Given the description of an element on the screen output the (x, y) to click on. 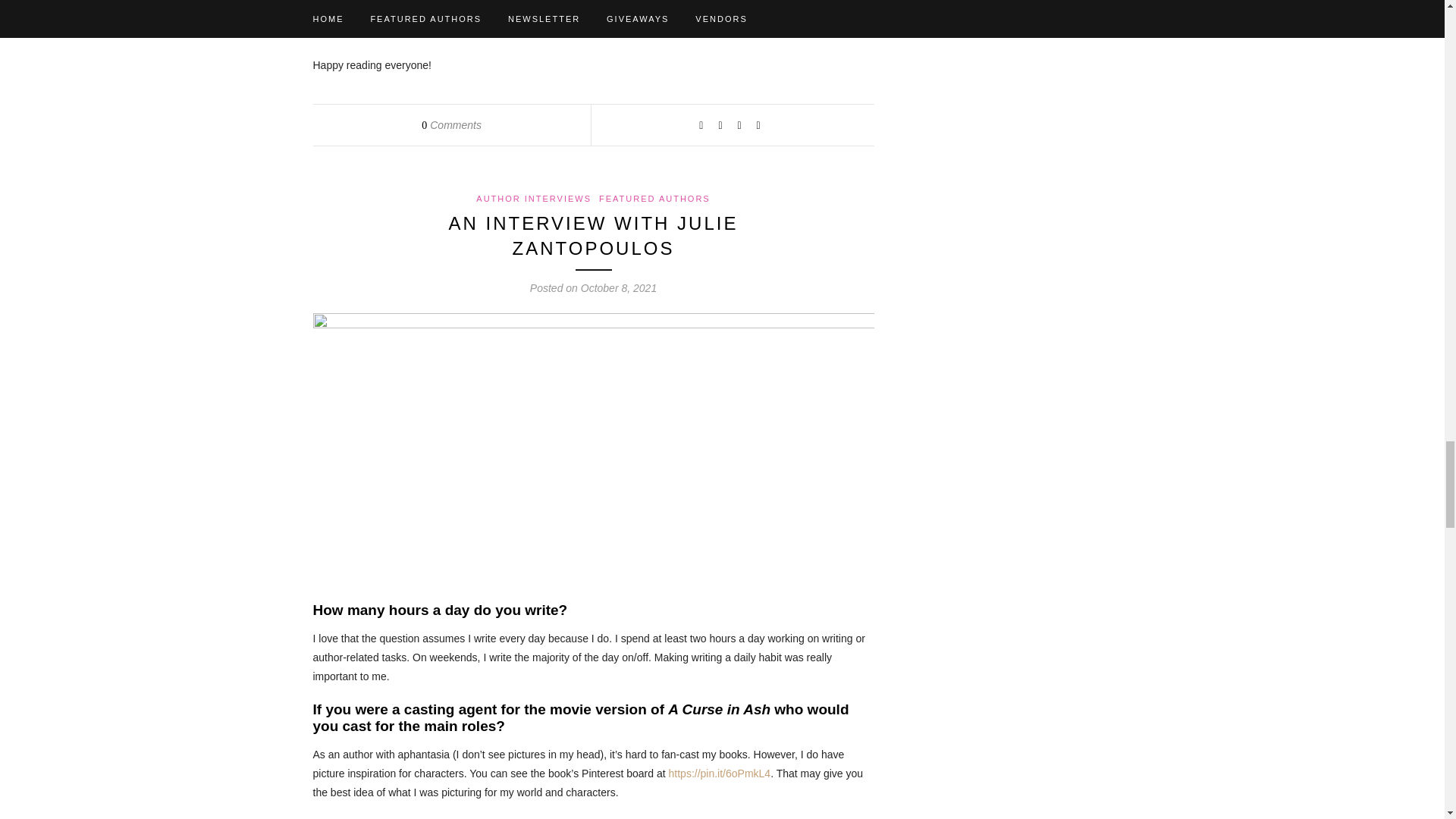
FEATURED AUTHORS (654, 198)
AUTHOR INTERVIEWS (533, 198)
AN INTERVIEW WITH JULIE ZANTOPOULOS (593, 235)
0 Comments (451, 124)
